Given the description of an element on the screen output the (x, y) to click on. 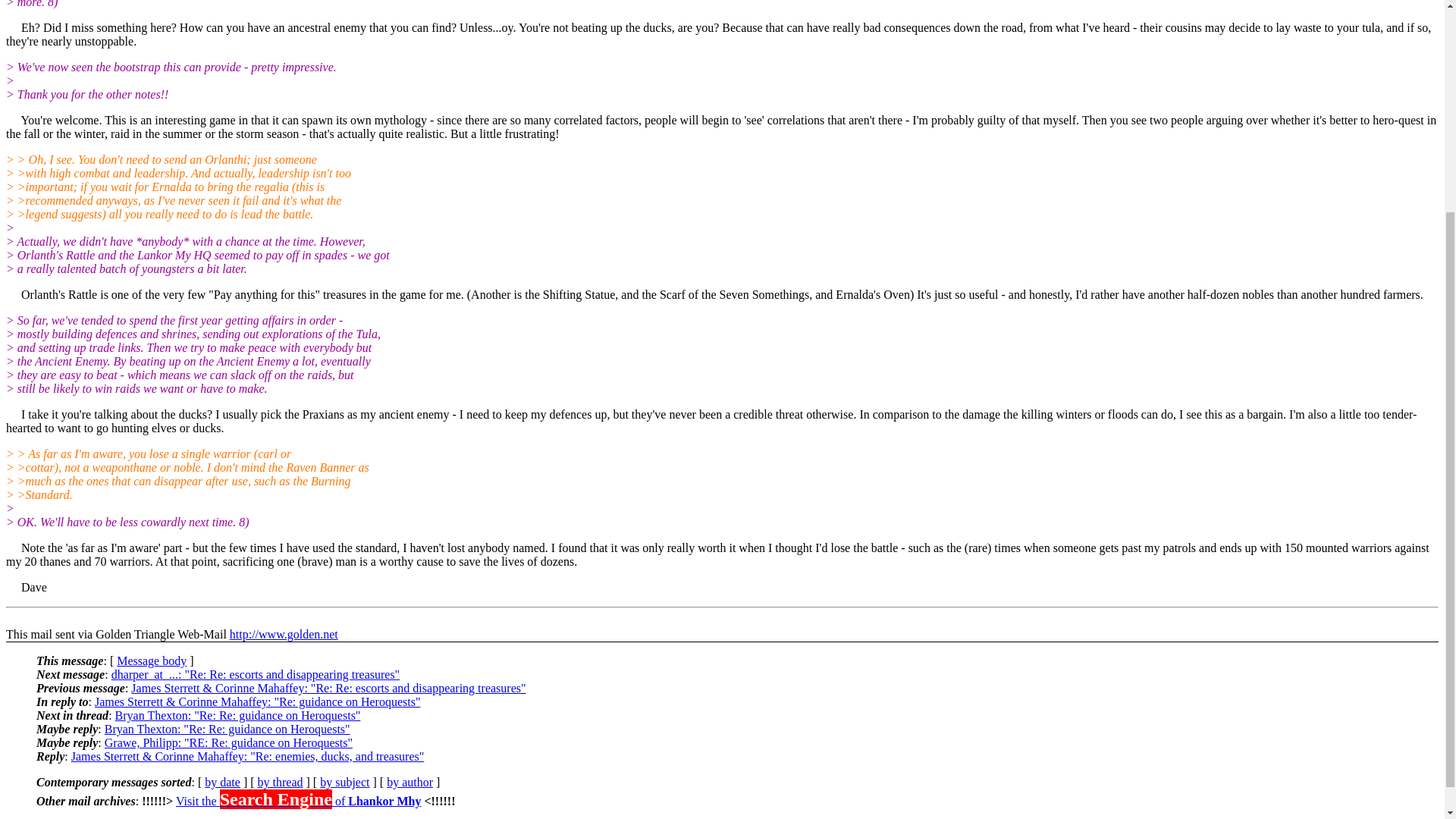
by thread (279, 781)
Contemporary messages by date (222, 781)
Bryan Thexton: "Re: Re: guidance on Heroquests" (227, 728)
Bryan Thexton: "Re: Re: guidance on Heroquests" (238, 715)
Message to which this message replies (257, 701)
Contemporary discussion threads (279, 781)
Contemporary messages by subject (344, 781)
Contemporary messages by author (409, 781)
Next message in this discussion thread (238, 715)
by date (222, 781)
Message sent in reply to this message (227, 728)
Message body (151, 660)
Message sent in reply to this message (228, 742)
by subject (344, 781)
Message sent in reply to this message (248, 756)
